Given the description of an element on the screen output the (x, y) to click on. 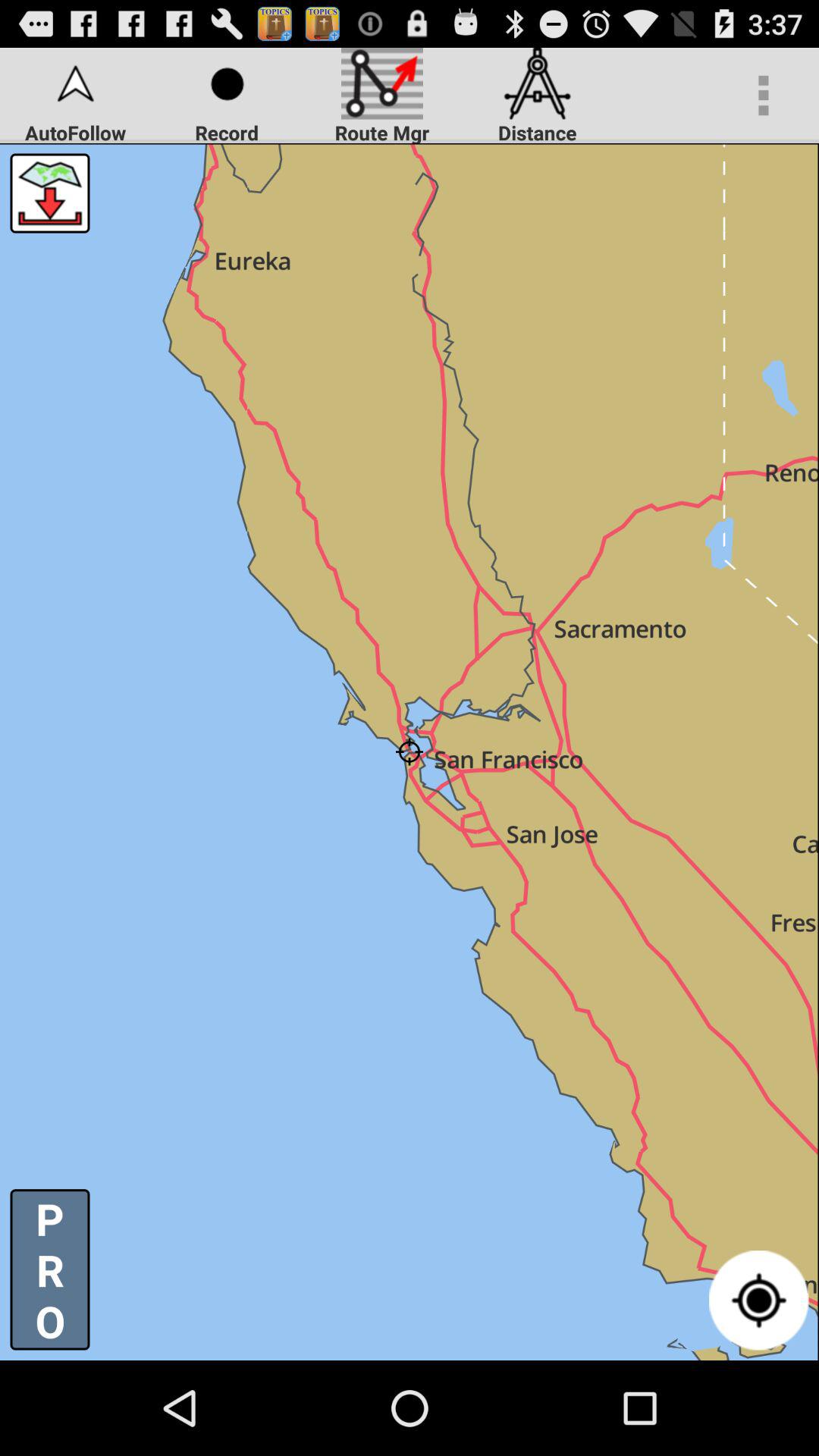
turn off button next to p
r
o button (758, 1300)
